Given the description of an element on the screen output the (x, y) to click on. 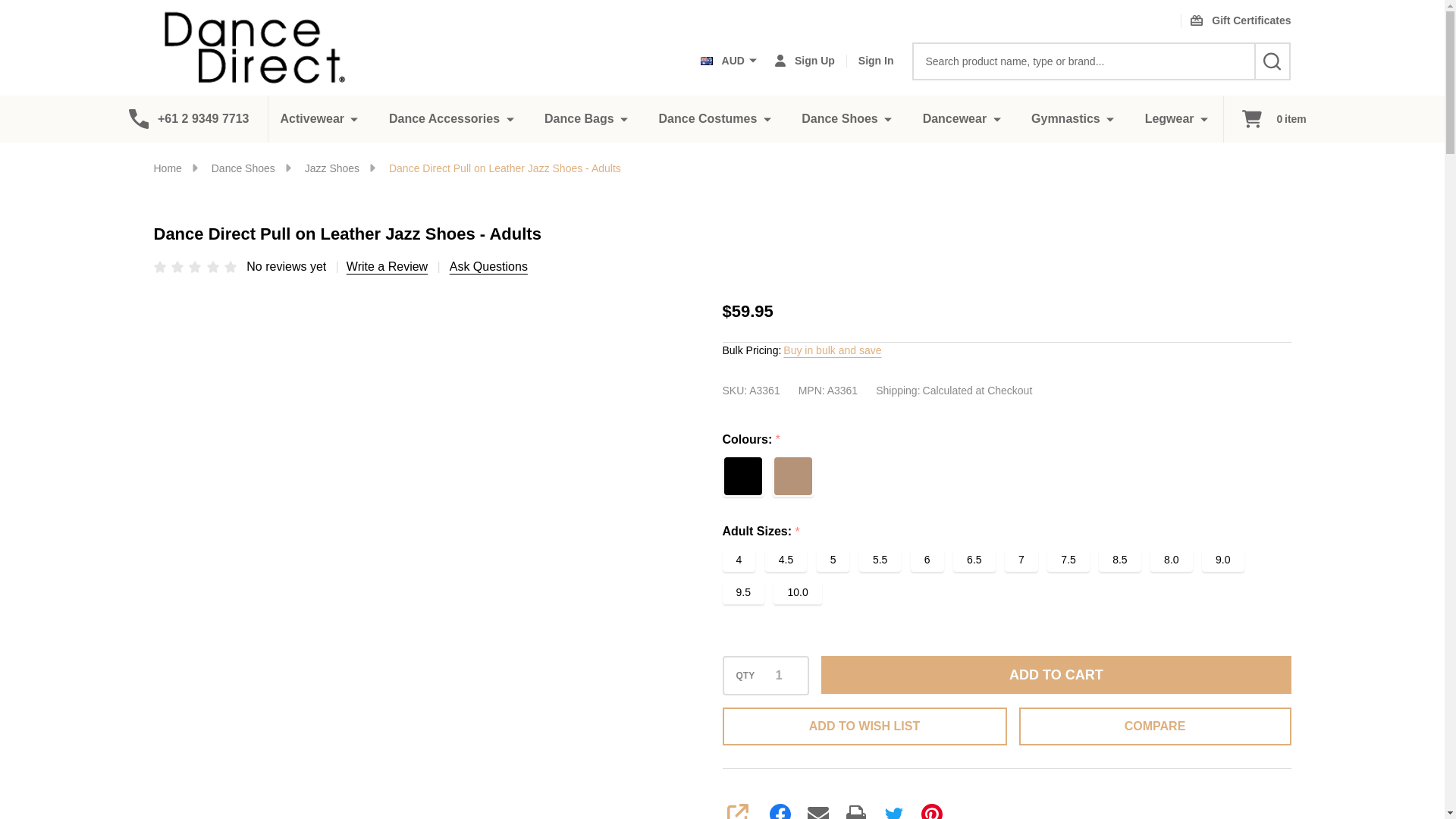
Sign Up (804, 60)
1 (778, 675)
Dance Direct (266, 47)
Sign Up (804, 60)
SEARCH (1271, 61)
AUD (728, 60)
